Given the description of an element on the screen output the (x, y) to click on. 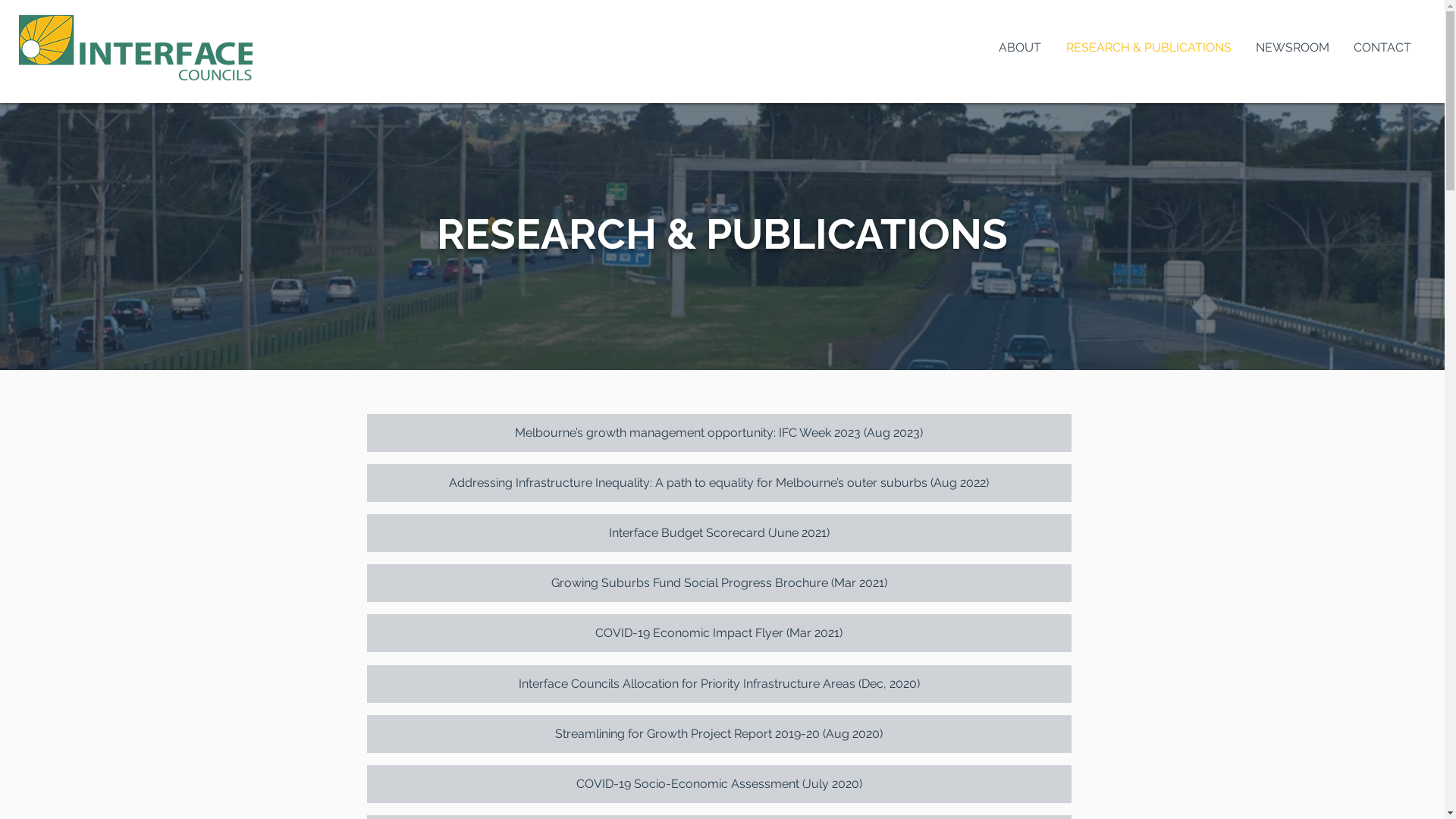
COVID-19 Socio-Economic Assessment (July 2020) Element type: text (719, 784)
COVID-19 Economic Impact Flyer (Mar 2021) Element type: text (719, 633)
RESEARCH & PUBLICATIONS Element type: text (1147, 46)
Interface Budget Scorecard (June 2021) Element type: text (719, 533)
Streamlining for Growth Project Report 2019-20 (Aug 2020) Element type: text (719, 734)
ABOUT Element type: text (1018, 46)
CONTACT Element type: text (1381, 46)
Growing Suburbs Fund Social Progress Brochure (Mar 2021) Element type: text (719, 583)
NEWSROOM Element type: text (1291, 46)
